Given the description of an element on the screen output the (x, y) to click on. 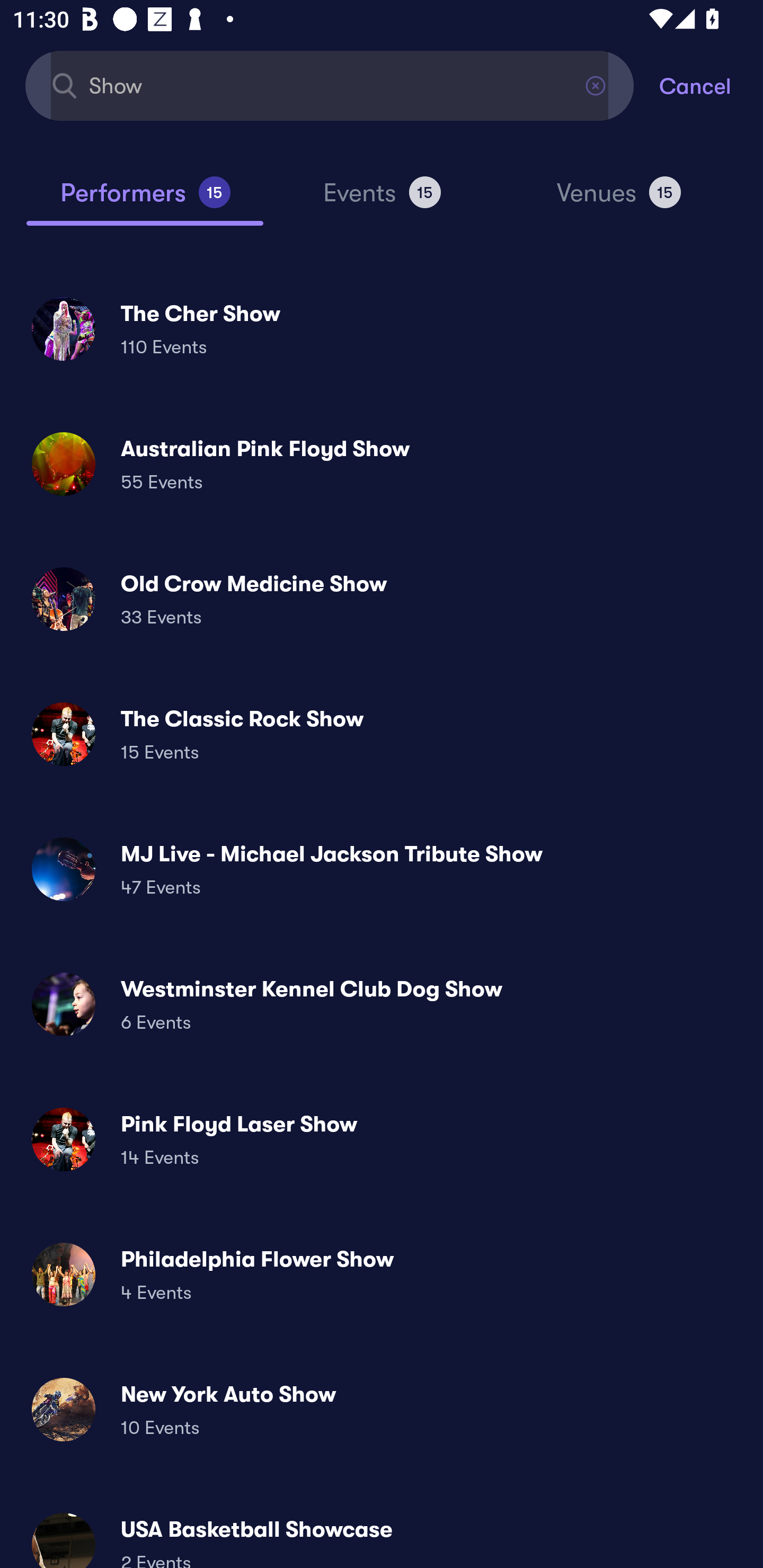
Show Find (329, 85)
Show Find (329, 85)
Cancel (711, 85)
Performers 15 (144, 200)
Events 15 (381, 200)
Venues 15 (618, 200)
The Cher Show 110 Events (381, 328)
Australian Pink Floyd Show 55 Events (381, 464)
Old Crow Medicine Show 33 Events (381, 598)
The Classic Rock Show 15 Events (381, 734)
MJ Live - Michael Jackson Tribute Show 47 Events (381, 869)
Westminster Kennel Club Dog Show 6 Events (381, 1004)
Pink Floyd Laser Show 14 Events (381, 1138)
Philadelphia Flower Show 4 Events (381, 1273)
New York Auto Show 10 Events (381, 1409)
USA Basketball Showcase 2 Events (381, 1532)
